Given the description of an element on the screen output the (x, y) to click on. 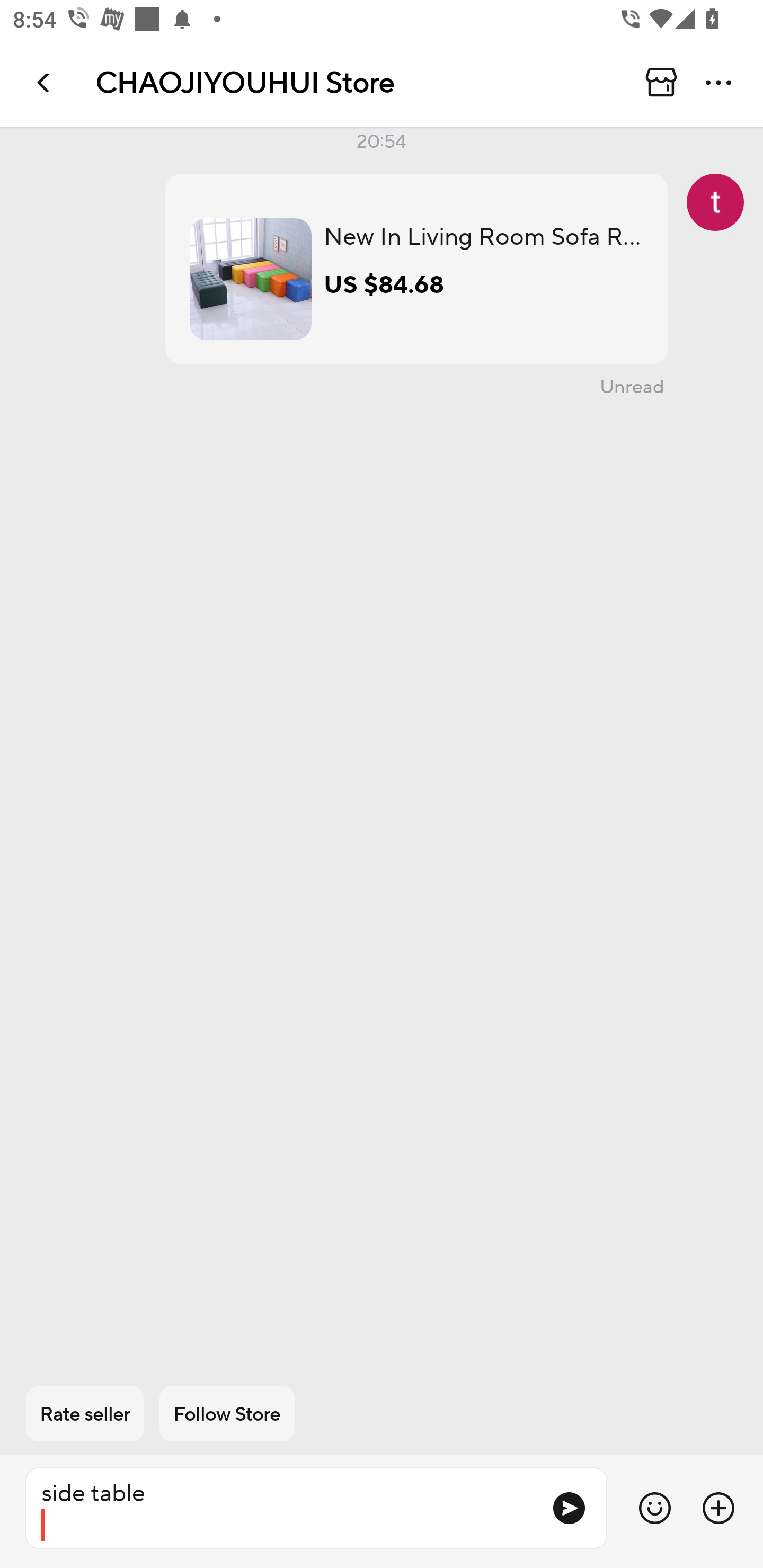
Navigate up (44, 82)
头像 (714, 202)
Rate seller (84, 1414)
Follow Store (226, 1414)
side table
 (281, 1508)
